Given the description of an element on the screen output the (x, y) to click on. 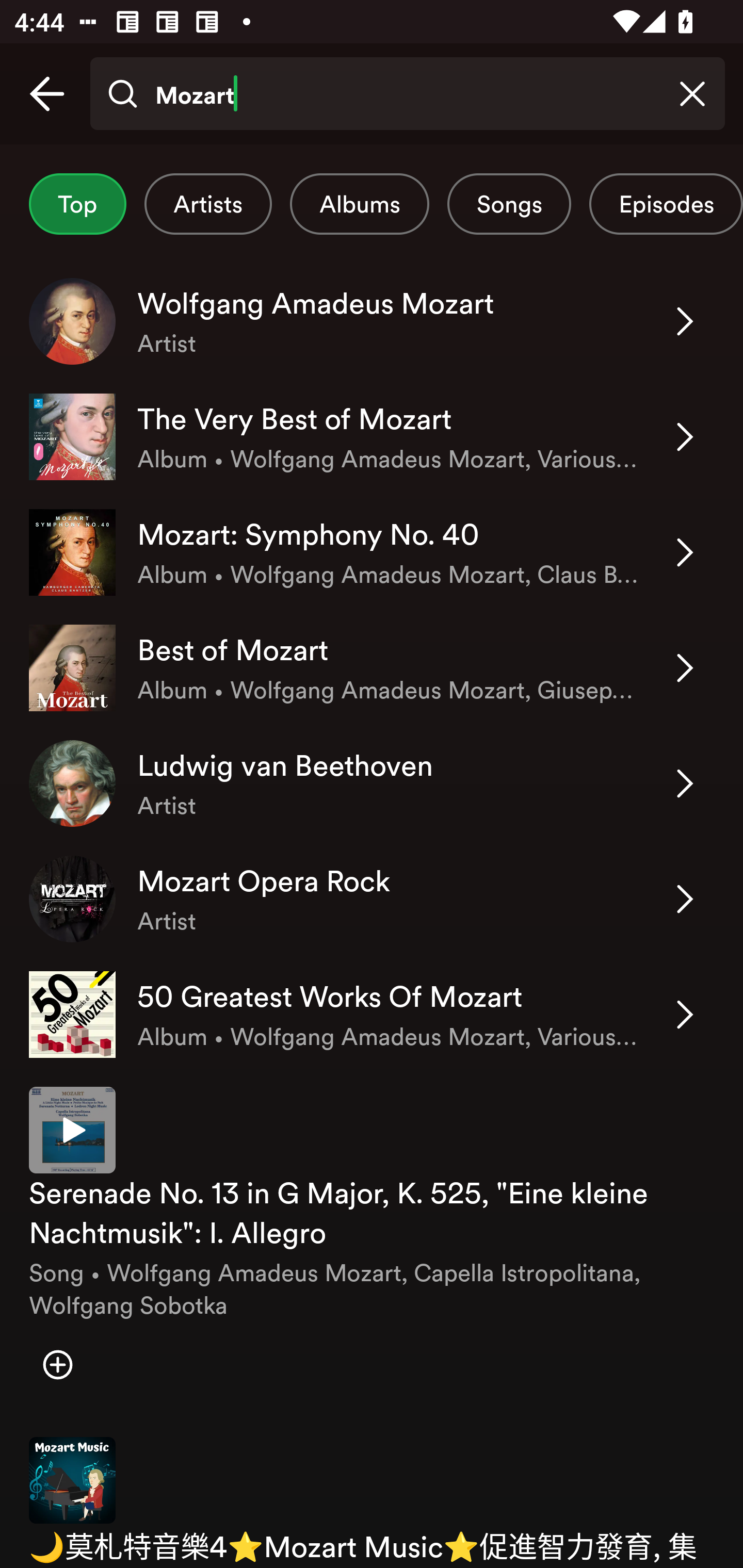
Back (46, 93)
Mozart Search (407, 94)
Clear Search (692, 94)
Top (77, 203)
Artists (207, 203)
Albums (359, 203)
Songs (509, 203)
Episodes (666, 203)
Wolfgang Amadeus Mozart Artist (371, 321)
Ludwig van Beethoven Artist (371, 783)
Mozart Opera Rock Artist (371, 899)
Play preview (71, 1129)
Add item (57, 1364)
